Given the description of an element on the screen output the (x, y) to click on. 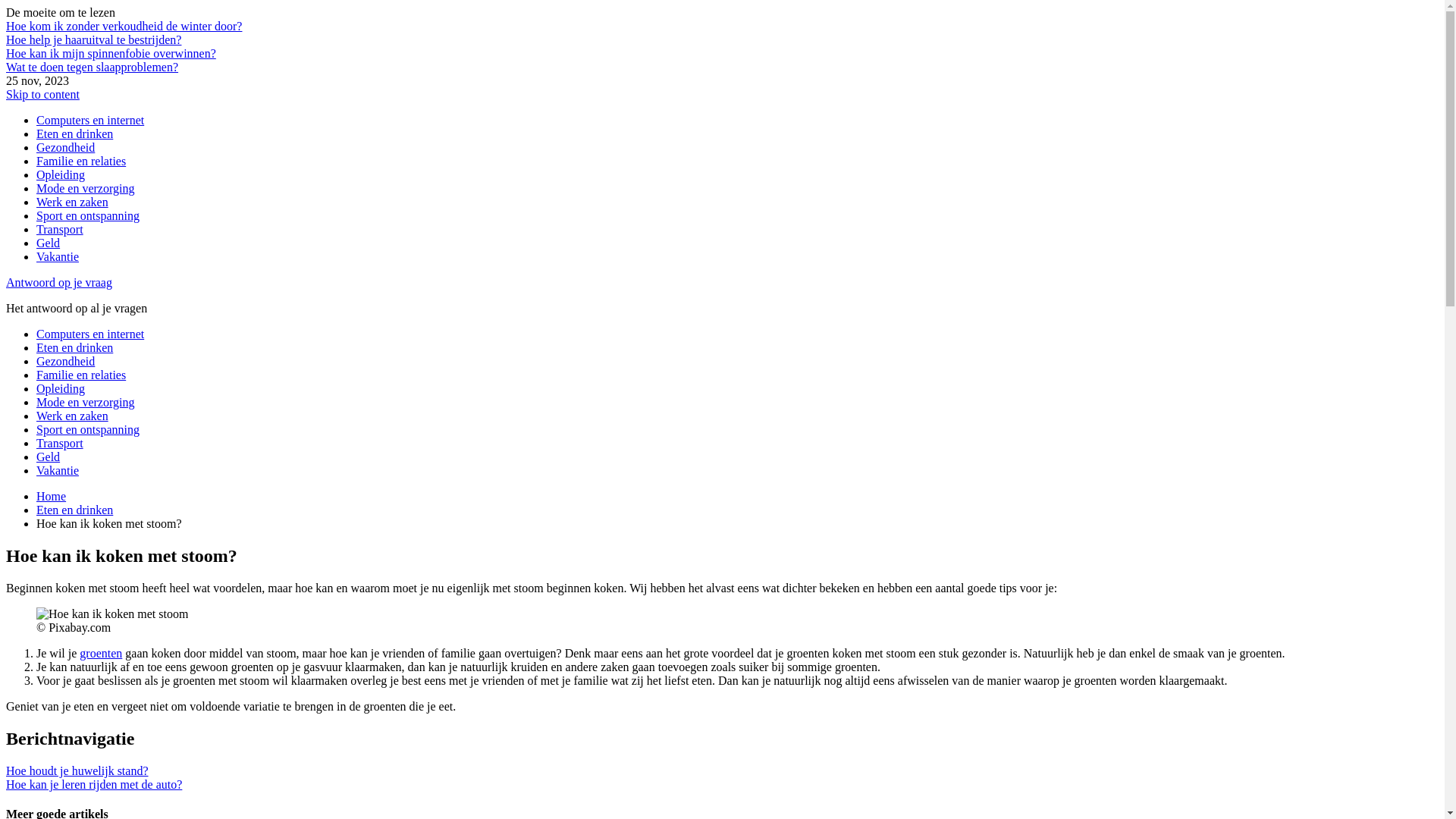
Sport en ontspanning Element type: text (87, 429)
Computers en internet Element type: text (90, 333)
Eten en drinken Element type: text (74, 509)
Hoe kan ik mijn spinnenfobie overwinnen? Element type: text (111, 53)
Geld Element type: text (47, 242)
Familie en relaties Element type: text (80, 374)
Werk en zaken Element type: text (72, 415)
Mode en verzorging Element type: text (85, 188)
Hoe kan je leren rijden met de auto? Element type: text (94, 784)
Opleiding Element type: text (60, 388)
Transport Element type: text (59, 228)
Computers en internet Element type: text (90, 119)
Gezondheid Element type: text (65, 147)
Werk en zaken Element type: text (72, 201)
Eten en drinken Element type: text (74, 133)
Skip to content Element type: text (42, 93)
Geld Element type: text (47, 456)
Mode en verzorging Element type: text (85, 401)
Gezondheid Element type: text (65, 360)
Hoe help je haaruitval te bestrijden? Element type: text (93, 39)
Antwoord op je vraag Element type: text (59, 282)
Familie en relaties Element type: text (80, 160)
groenten Element type: text (100, 652)
Home Element type: text (50, 495)
Transport Element type: text (59, 442)
Wat te doen tegen slaapproblemen? Element type: text (92, 66)
Vakantie Element type: text (57, 470)
Hoe houdt je huwelijk stand? Element type: text (77, 770)
Opleiding Element type: text (60, 174)
Eten en drinken Element type: text (74, 347)
Vakantie Element type: text (57, 256)
Sport en ontspanning Element type: text (87, 215)
Hoe kom ik zonder verkoudheid de winter door? Element type: text (123, 25)
